Given the description of an element on the screen output the (x, y) to click on. 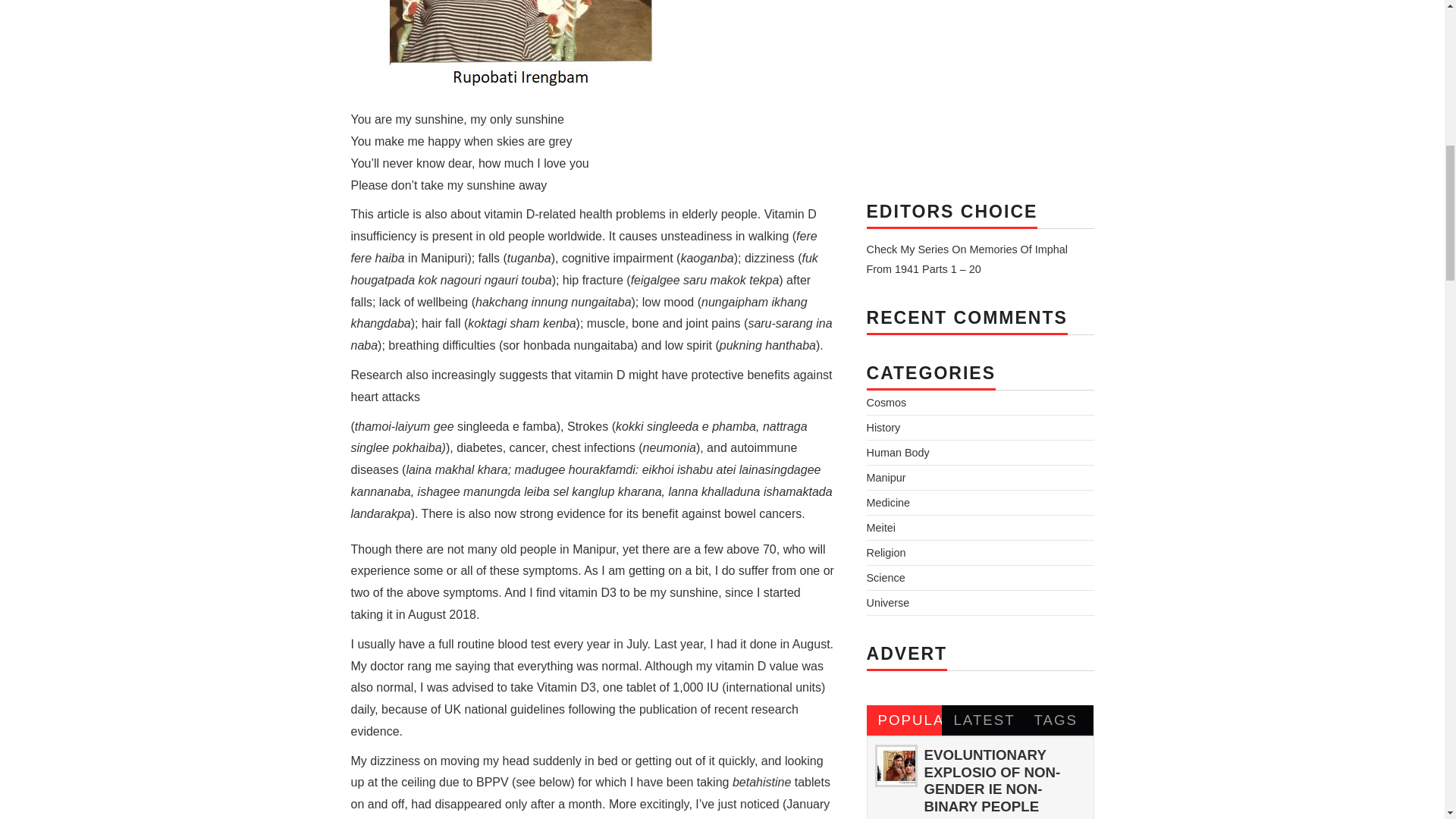
Human Body (897, 452)
Universe (887, 603)
Evoluntionary Explosio Of Non-Gender ie Non-Binary People (895, 765)
Cosmos (885, 402)
TAGS (1055, 720)
Meitei (880, 527)
Advertisement (979, 86)
Manipur (885, 477)
Evoluntionary Explosio Of Non-Gender ie Non-Binary People (991, 780)
POPULAR (904, 720)
